Given the description of an element on the screen output the (x, y) to click on. 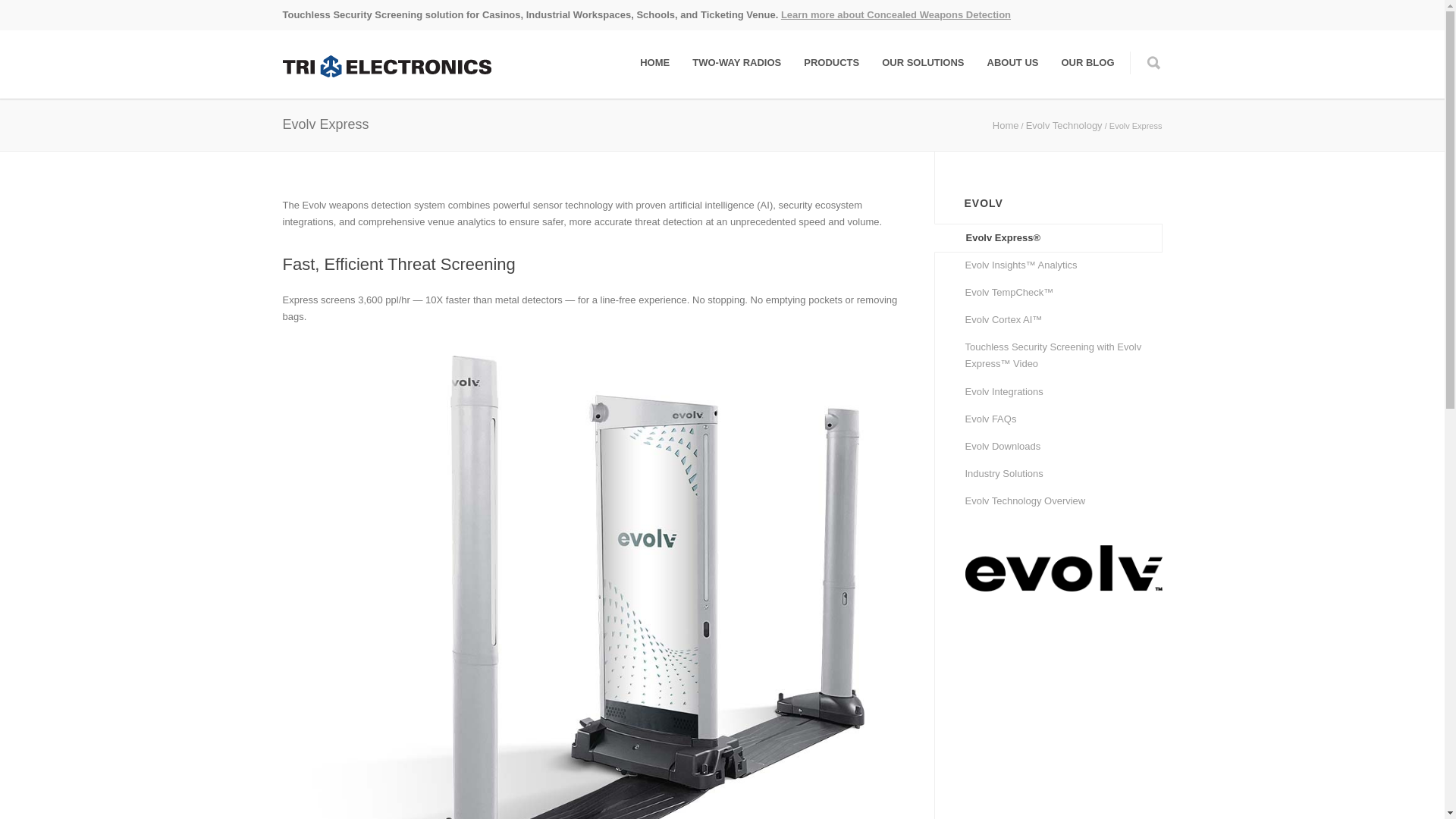
HOME (654, 62)
TWO-WAY RADIOS (736, 62)
Learn more about Concealed Weapons Detection (895, 14)
PRODUCTS (831, 62)
